Given the description of an element on the screen output the (x, y) to click on. 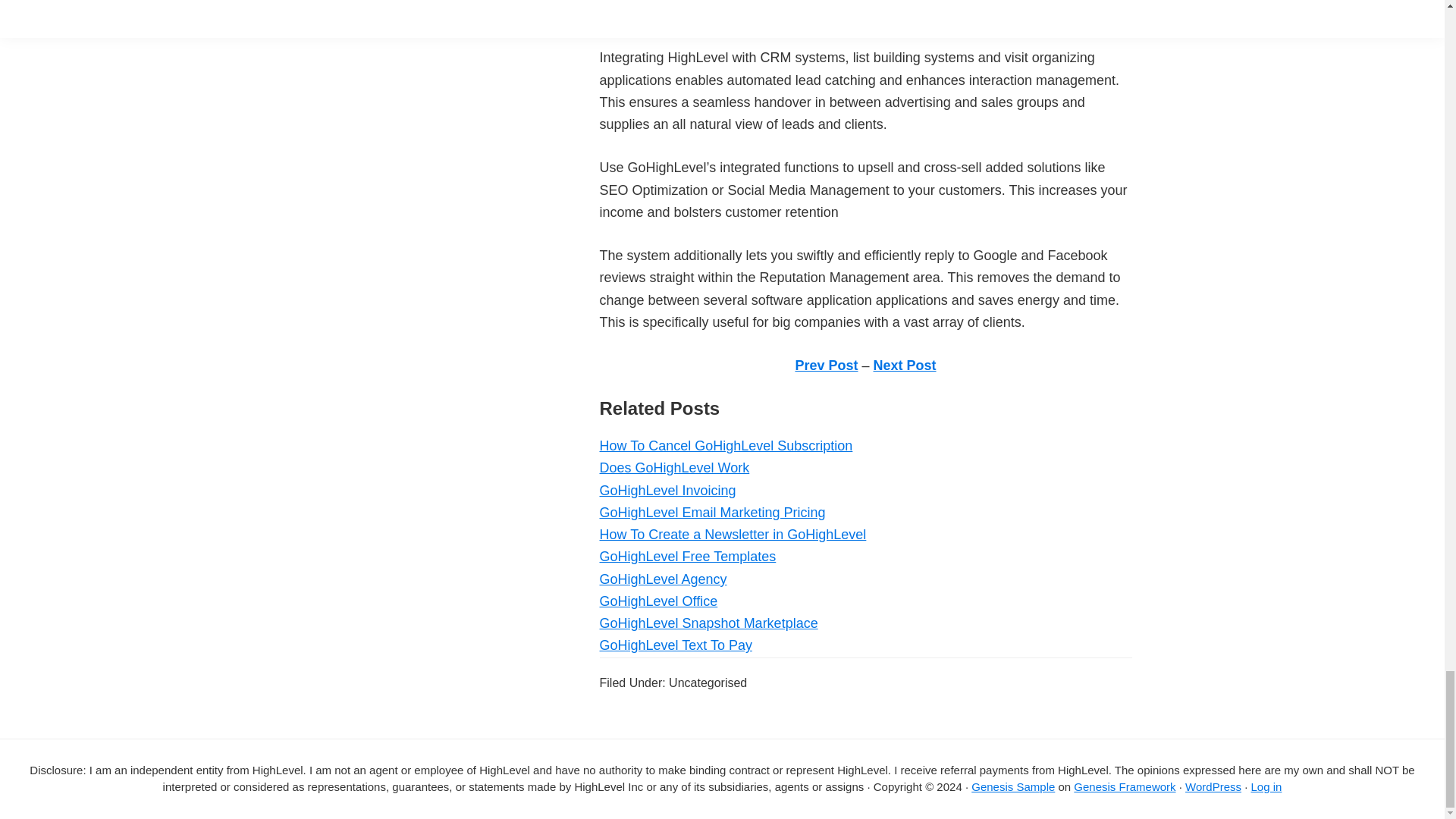
GoHighLevel Email Marketing Pricing (711, 512)
GoHighLevel Invoicing (666, 490)
GoHighLevel Free Templates (687, 556)
How To Cancel GoHighLevel Subscription (724, 445)
Next Post (904, 365)
How To Create a Newsletter in GoHighLevel (732, 534)
GoHighLevel Agency (662, 579)
GoHighLevel Office (657, 601)
Genesis Framework (1124, 786)
Log in (1266, 786)
How To Cancel GoHighLevel Subscription (724, 445)
How To Create a Newsletter in GoHighLevel (732, 534)
GoHighLevel Snapshot Marketplace (707, 622)
GoHighLevel Text To Pay (674, 645)
Does GoHighLevel Work (673, 467)
